Given the description of an element on the screen output the (x, y) to click on. 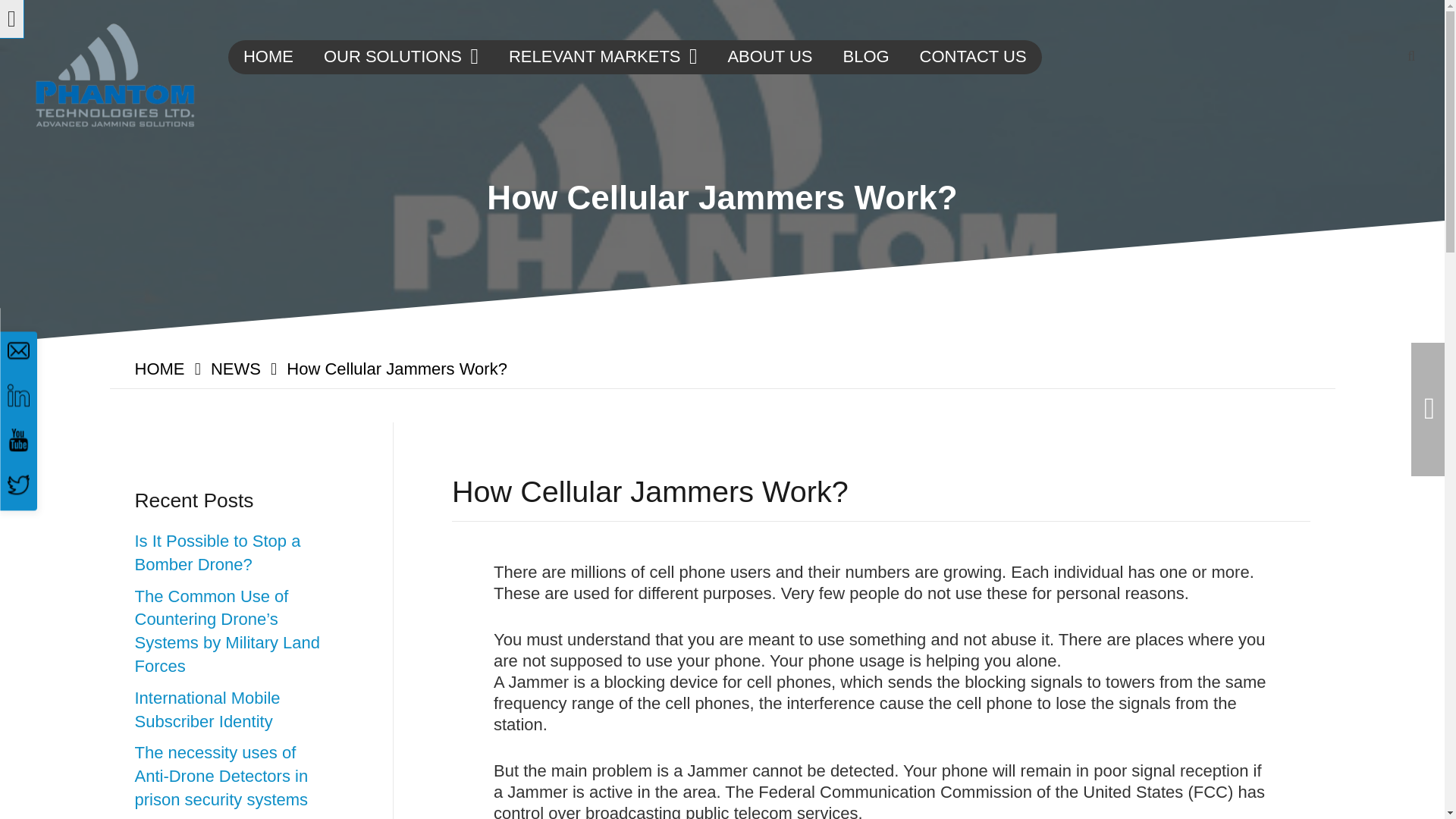
RELEVANT MARKETS (602, 56)
OUR SOLUTIONS (400, 56)
HOME (268, 56)
